Given the description of an element on the screen output the (x, y) to click on. 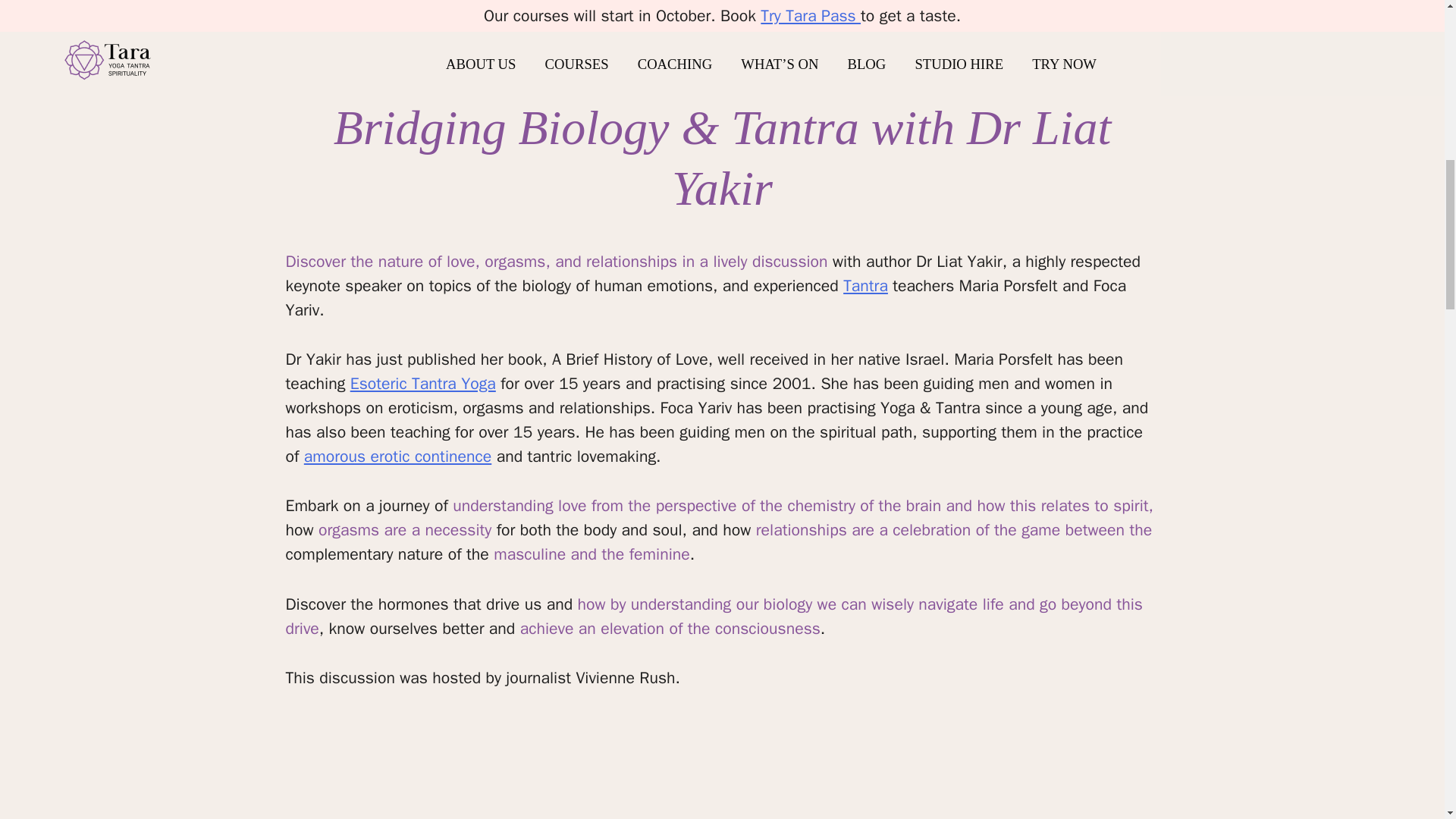
Share on Facebook (1080, 4)
Esoteric Tantra Yoga (423, 383)
amorous erotic continence (398, 455)
Tantra (865, 285)
Share on Twitter (1114, 4)
Share via Email (1149, 4)
